Given the description of an element on the screen output the (x, y) to click on. 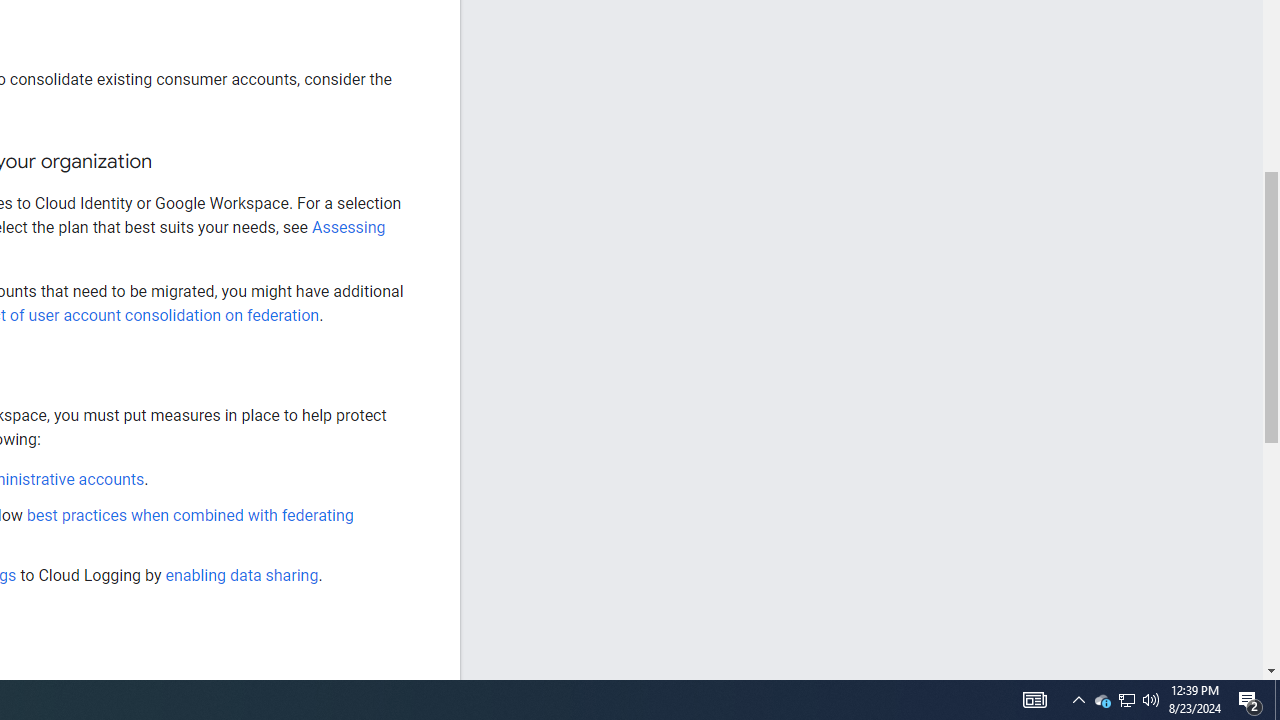
enabling data sharing (241, 574)
